Given the description of an element on the screen output the (x, y) to click on. 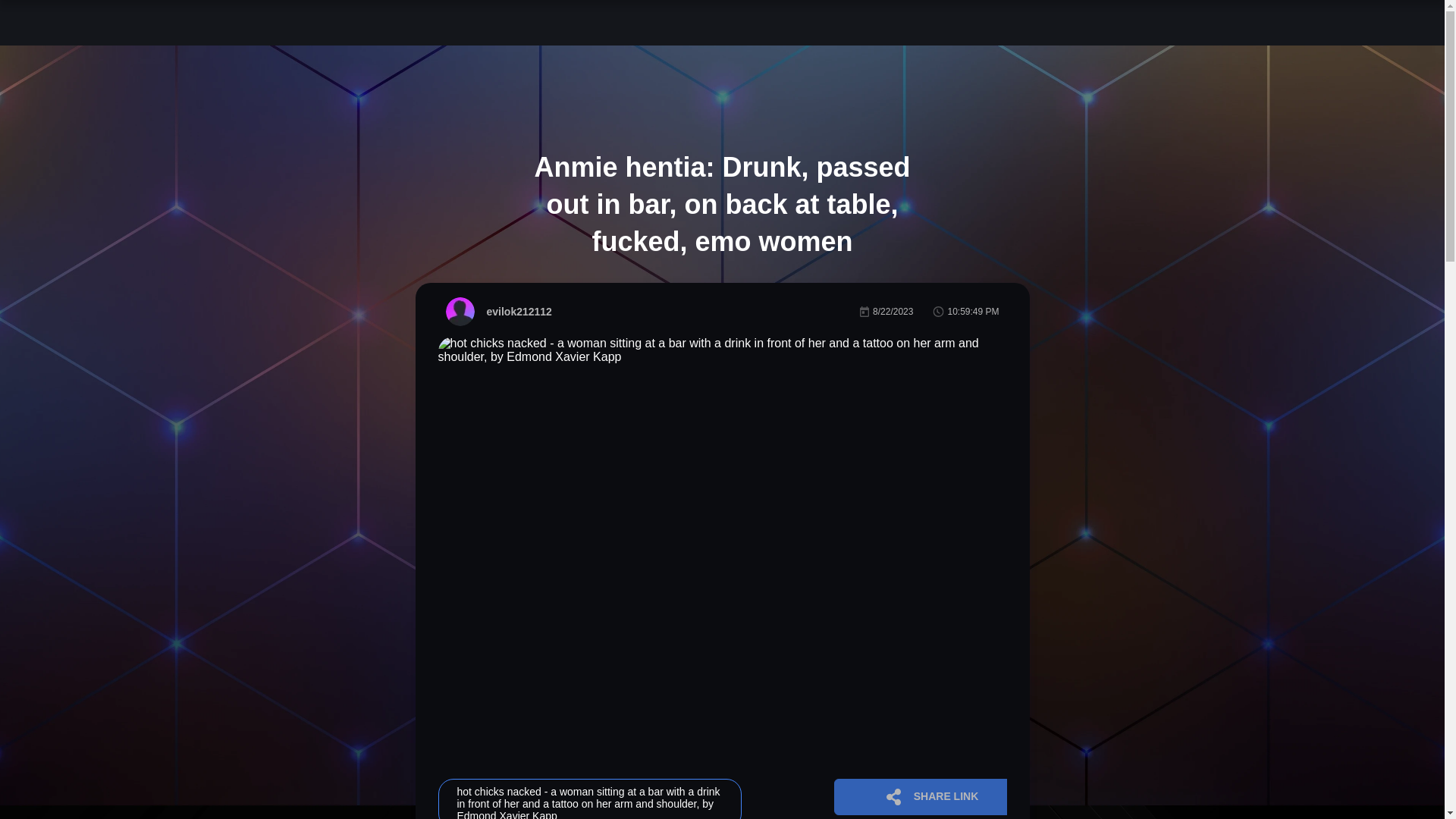
evilok212112 (498, 311)
